Given the description of an element on the screen output the (x, y) to click on. 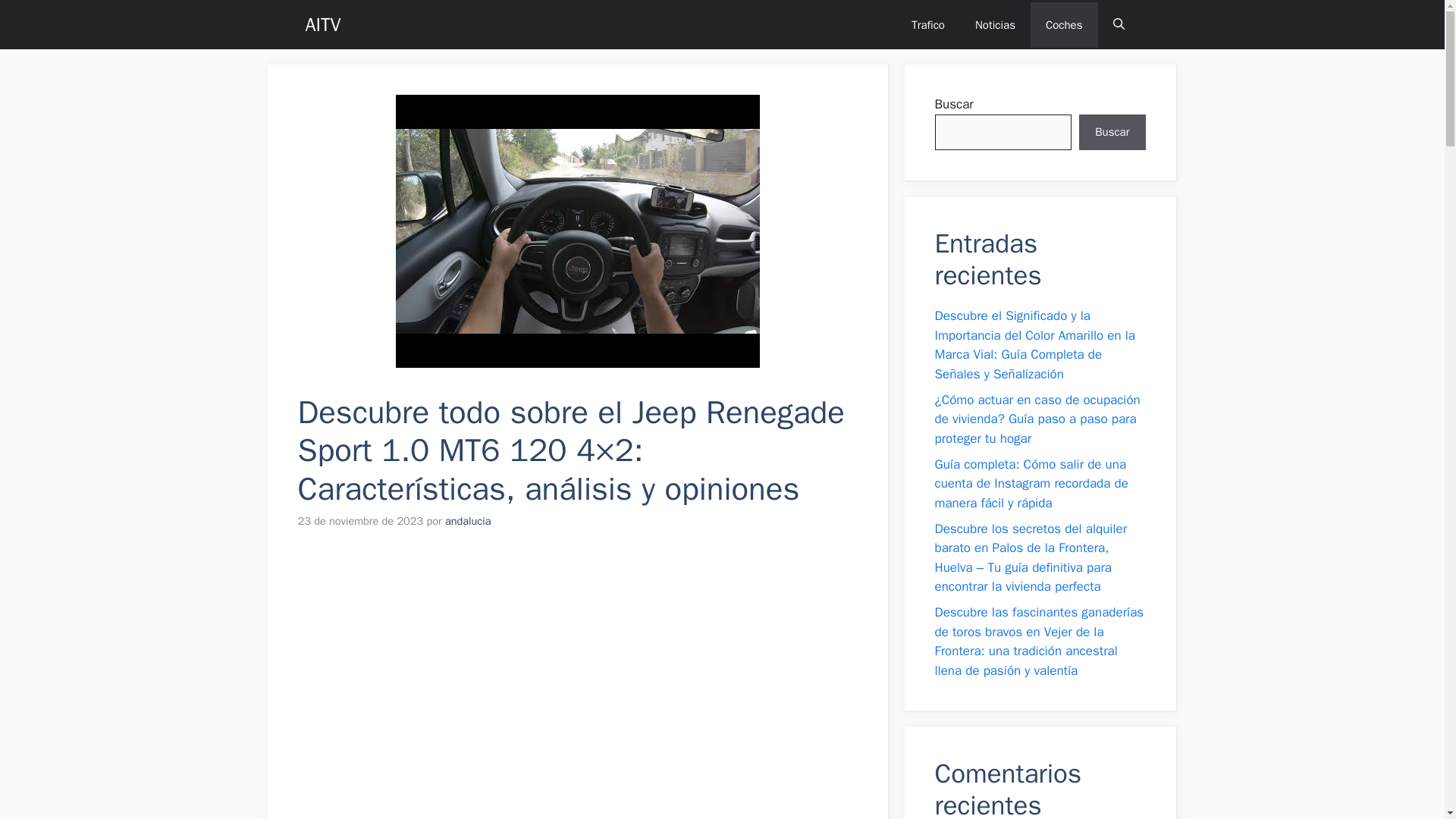
Trafico (927, 23)
Buscar (1111, 131)
YouTube video player (509, 675)
Coches (1063, 23)
andalucia (468, 520)
Ver todas las entradas de andalucia (468, 520)
Noticias (994, 23)
